Given the description of an element on the screen output the (x, y) to click on. 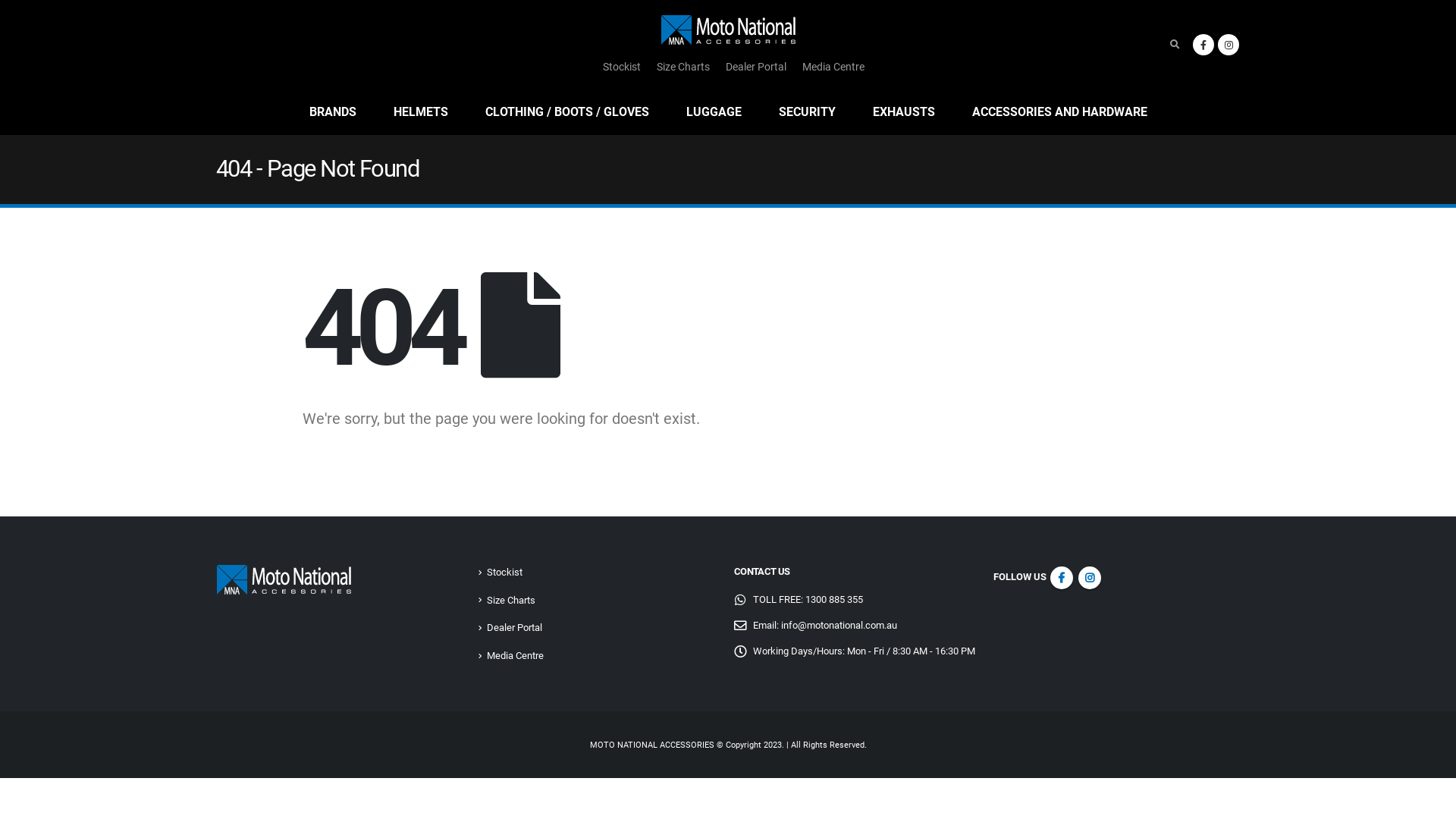
SECURITY Element type: text (806, 111)
Dealer Portal Element type: text (754, 67)
LUGGAGE Element type: text (713, 111)
info@motonational.com.au Element type: text (839, 624)
Dealer Portal Element type: text (514, 627)
Stockist Element type: text (621, 67)
MOTO NATIONAL ACCESSORIES - MOTO NATIONAL ACCESSORIES Element type: hover (727, 30)
Size Charts Element type: text (682, 67)
BRANDS Element type: text (332, 111)
EXHAUSTS Element type: text (902, 111)
Media Centre Element type: text (833, 67)
Instagram Element type: hover (1228, 43)
Instagram Element type: text (1089, 577)
HELMETS Element type: text (419, 111)
Facebook Element type: hover (1203, 43)
Media Centre Element type: text (514, 655)
Stockist Element type: text (504, 571)
Facebook Element type: text (1060, 577)
CLOTHING / BOOTS / GLOVES Element type: text (567, 111)
ACCESSORIES AND HARDWARE Element type: text (1059, 111)
Size Charts Element type: text (510, 599)
